Given the description of an element on the screen output the (x, y) to click on. 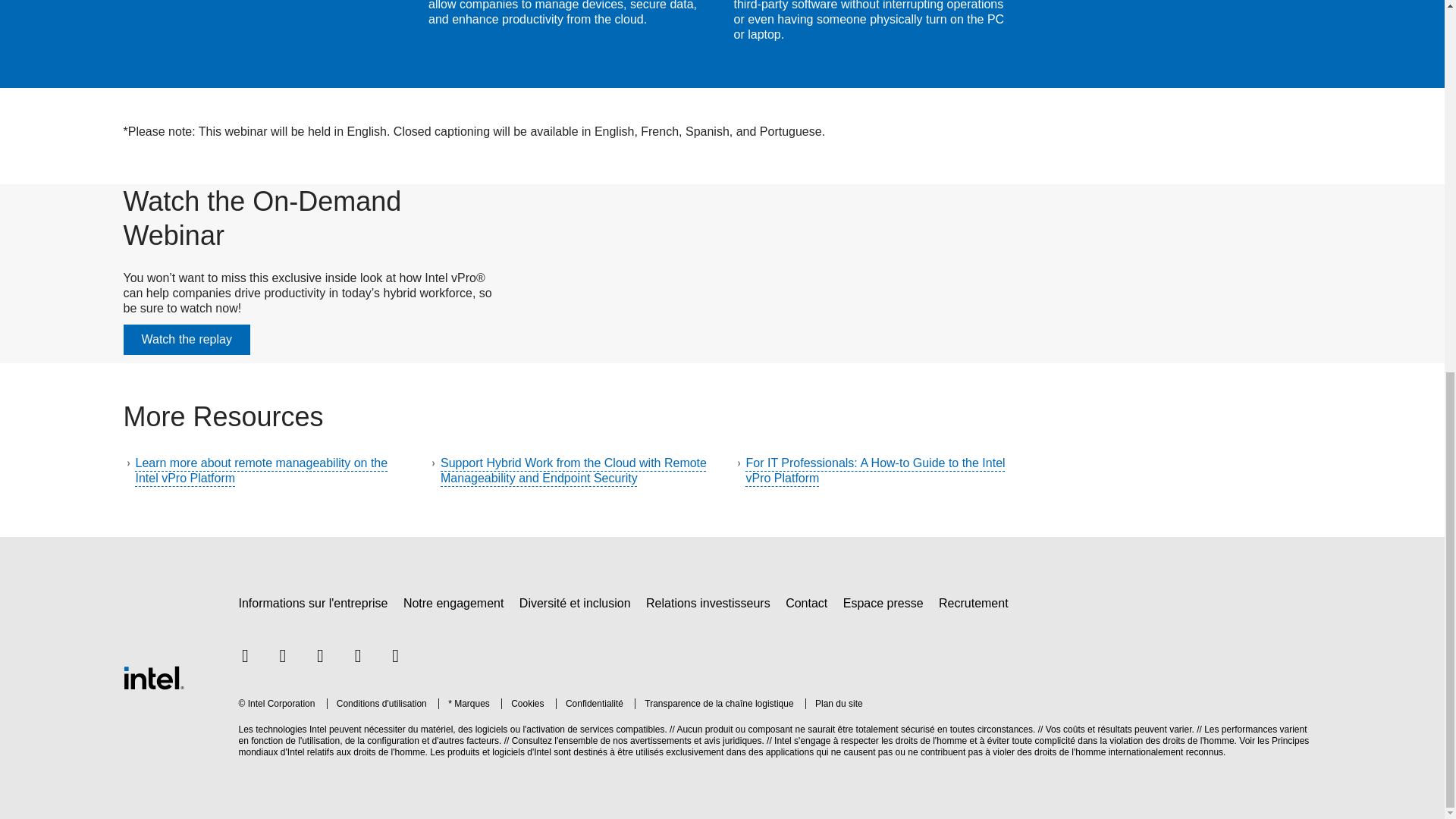
Logo de bas de page Intel (152, 676)
